Given the description of an element on the screen output the (x, y) to click on. 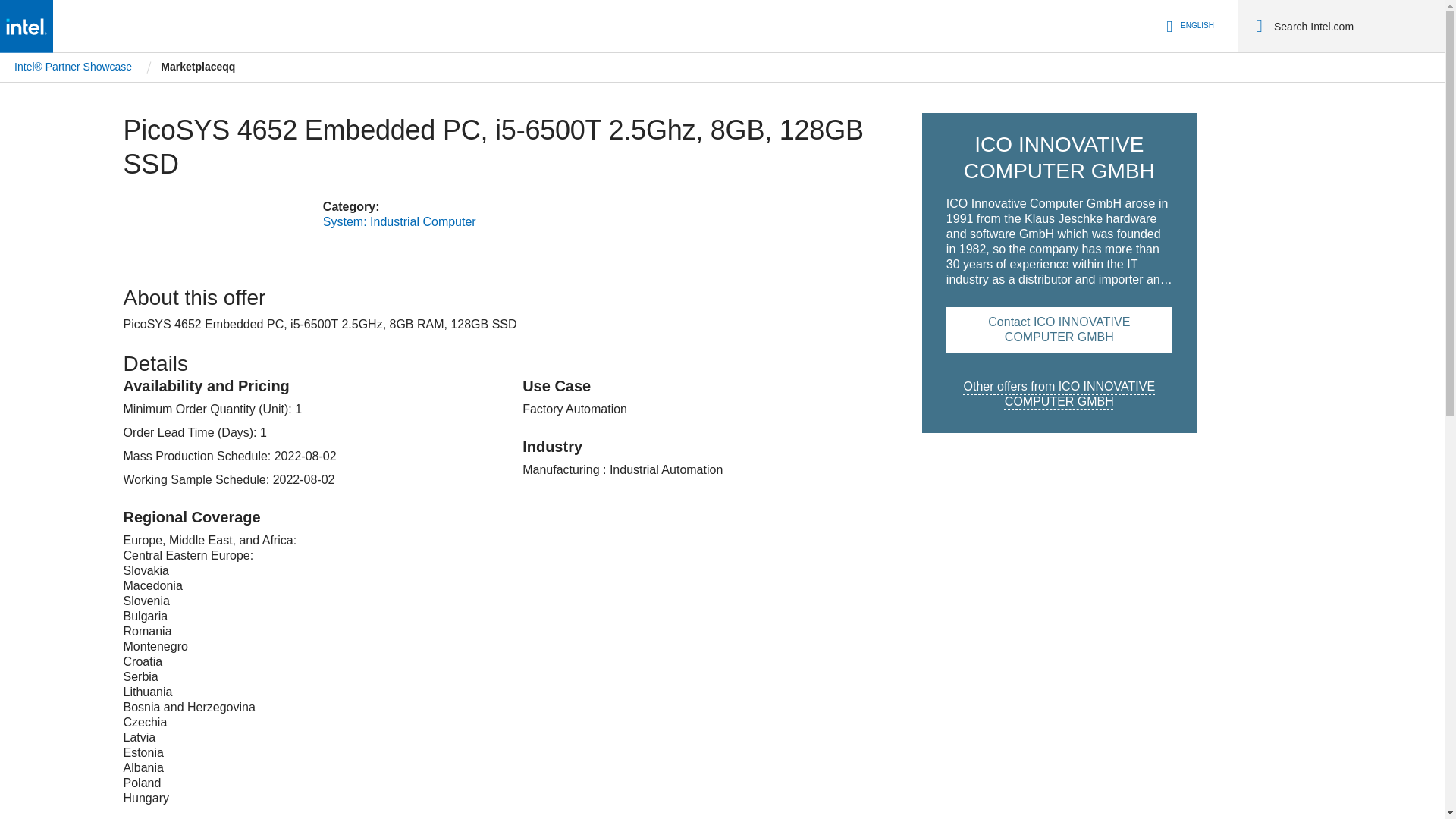
Search (1259, 26)
Language Selector (1187, 26)
ENGLISH (1187, 26)
